Given the description of an element on the screen output the (x, y) to click on. 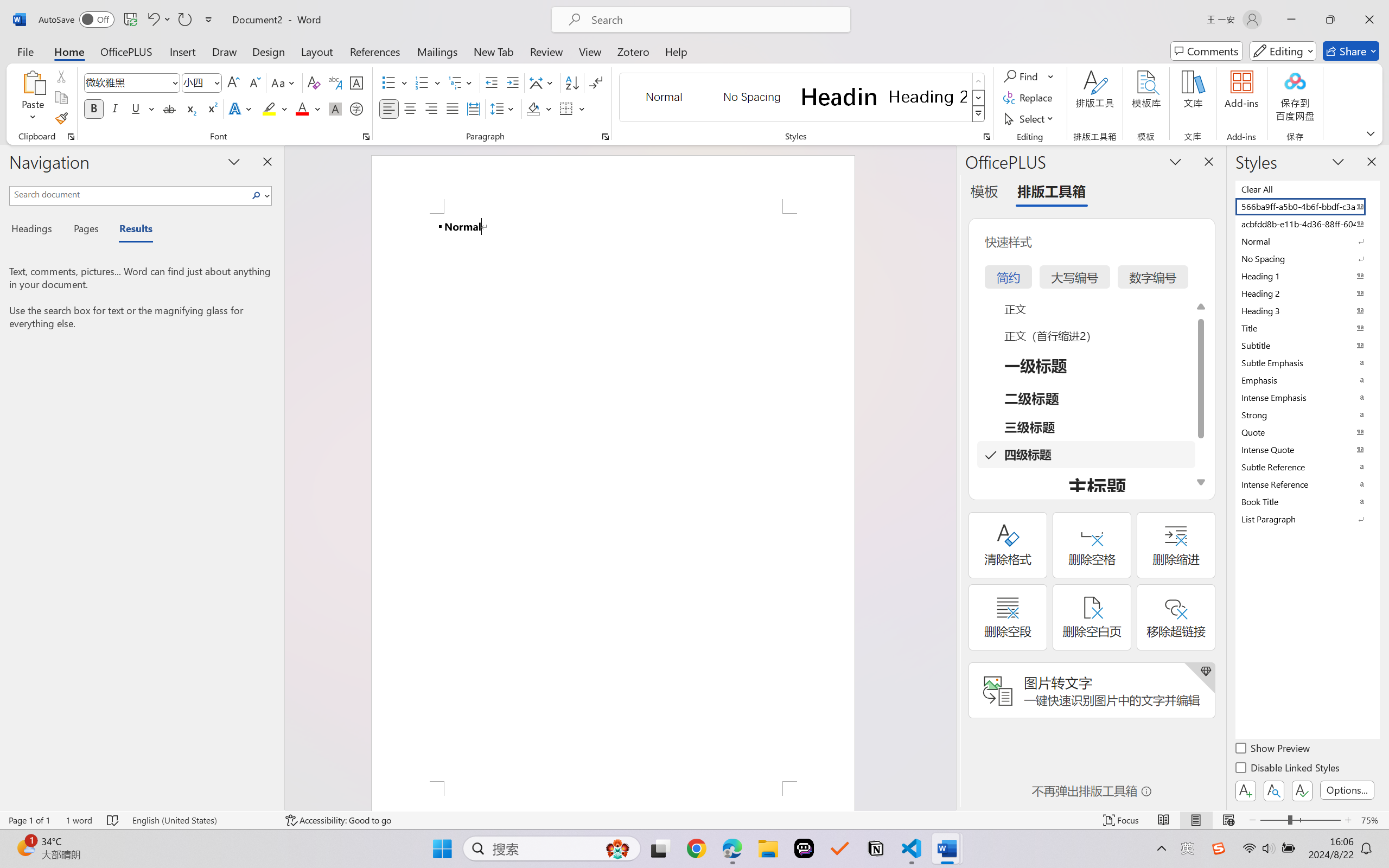
Superscript (210, 108)
Replace... (1029, 97)
Align Right (431, 108)
Row up (978, 81)
Character Shading (334, 108)
Page 1 content (612, 497)
Align Left (388, 108)
Headings (35, 229)
Print Layout (1196, 819)
Paragraph... (605, 136)
Intense Emphasis (1306, 397)
Book Title (1306, 501)
AutomationID: QuickStylesGallery (802, 97)
Underline (135, 108)
